Given the description of an element on the screen output the (x, y) to click on. 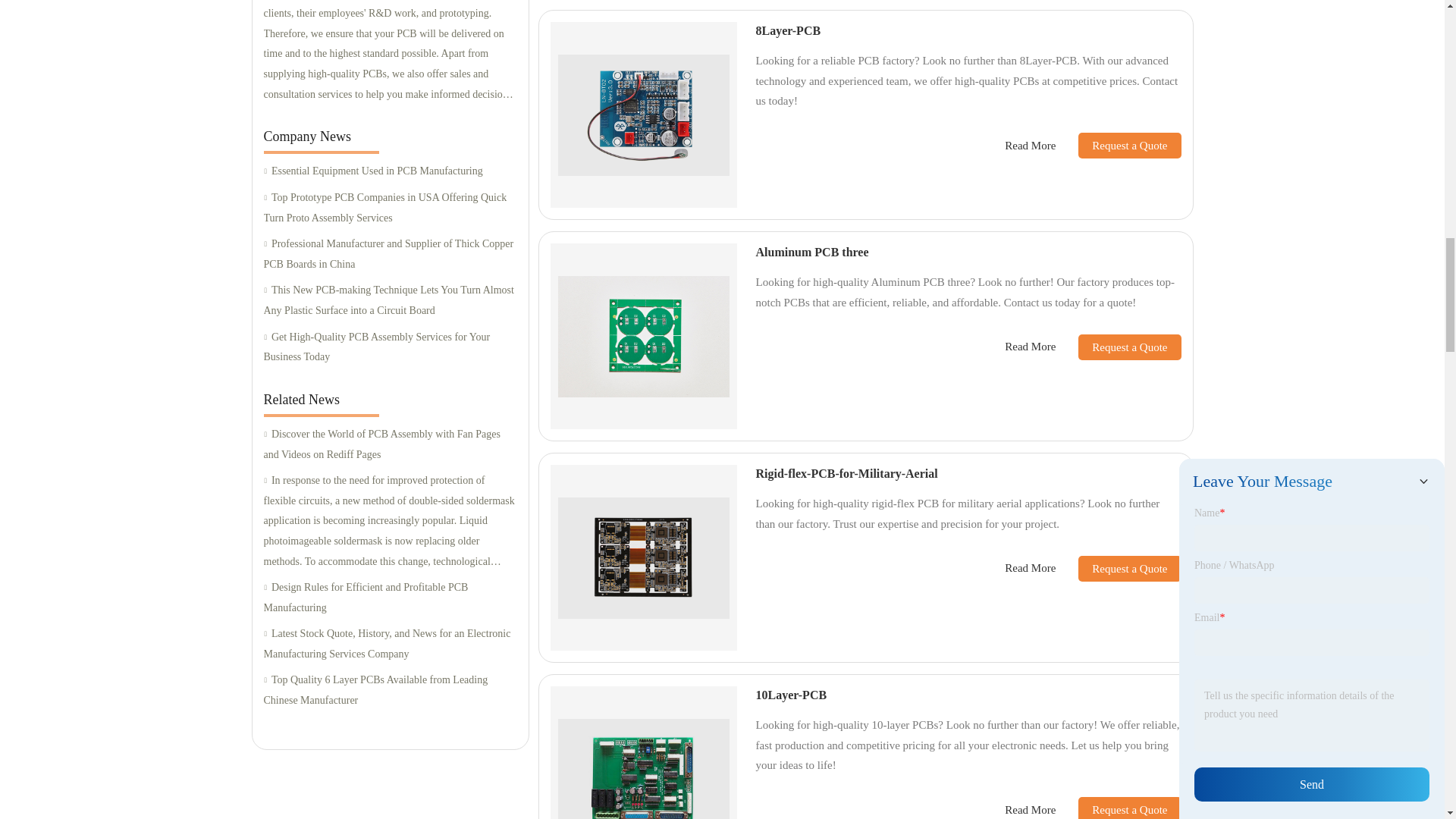
Design Rules for Efficient and Profitable PCB Manufacturing (389, 598)
Essential Equipment Used in PCB Manufacturing (389, 171)
